Given the description of an element on the screen output the (x, y) to click on. 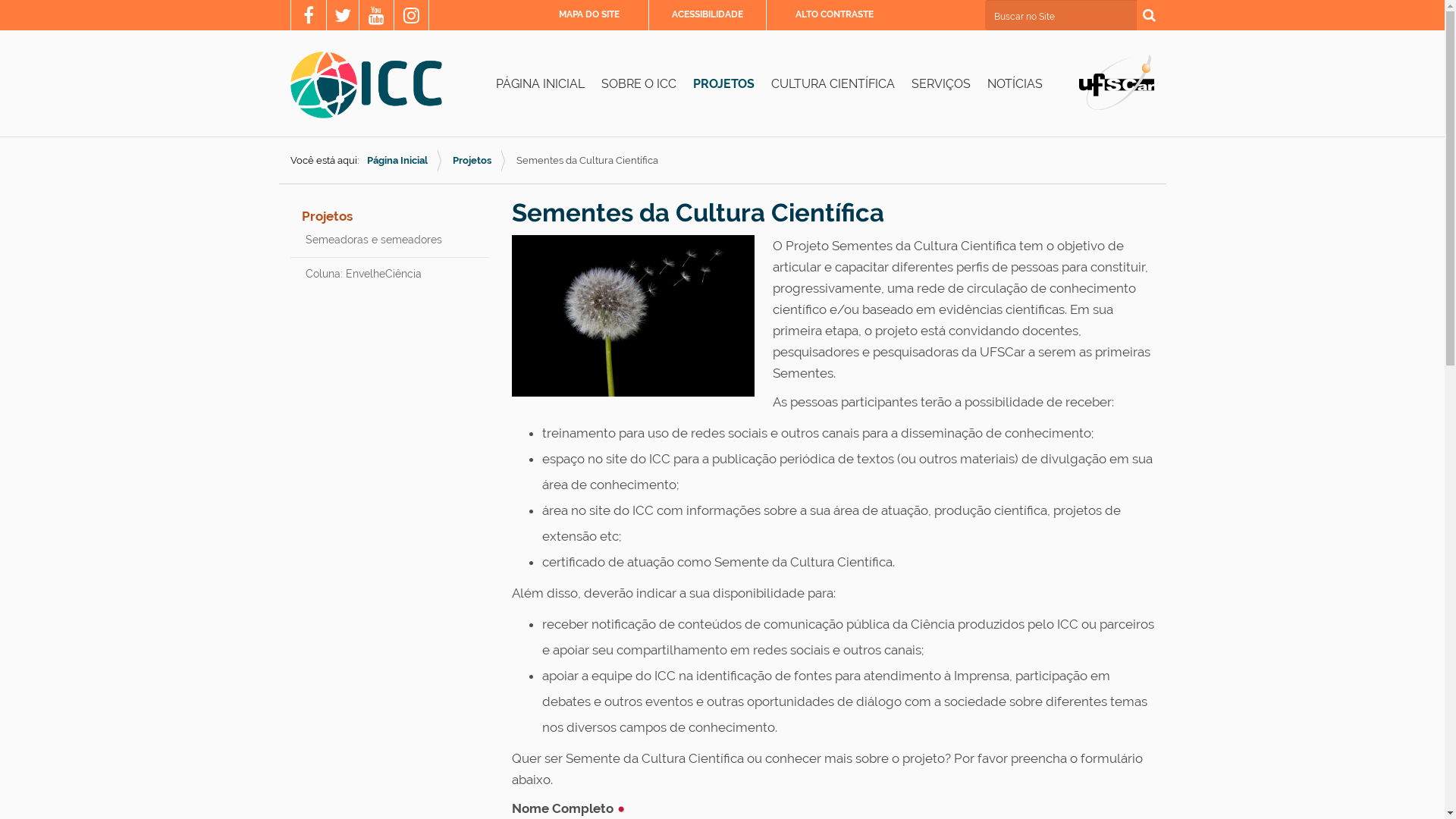
ACESSIBILIDADE Element type: text (707, 14)
Projetos Element type: text (326, 215)
Portal UFSCar Element type: hover (1116, 80)
PROJETOS Element type: text (723, 83)
Projetos Element type: text (470, 160)
dentedeleao.jpg Element type: hover (632, 315)
Buscar no Site Element type: hover (1059, 15)
YouTube UFSCar Oficial Element type: hover (376, 17)
SOBRE O ICC Element type: text (638, 83)
Semeadoras e semeadores Element type: text (389, 239)
MAPA DO SITE Element type: text (588, 14)
ALTO CONTRASTE Element type: text (833, 14)
Instagram UFSCar Oficial Element type: hover (411, 17)
Facebook UFSCar Oficial Element type: hover (308, 17)
